Given the description of an element on the screen output the (x, y) to click on. 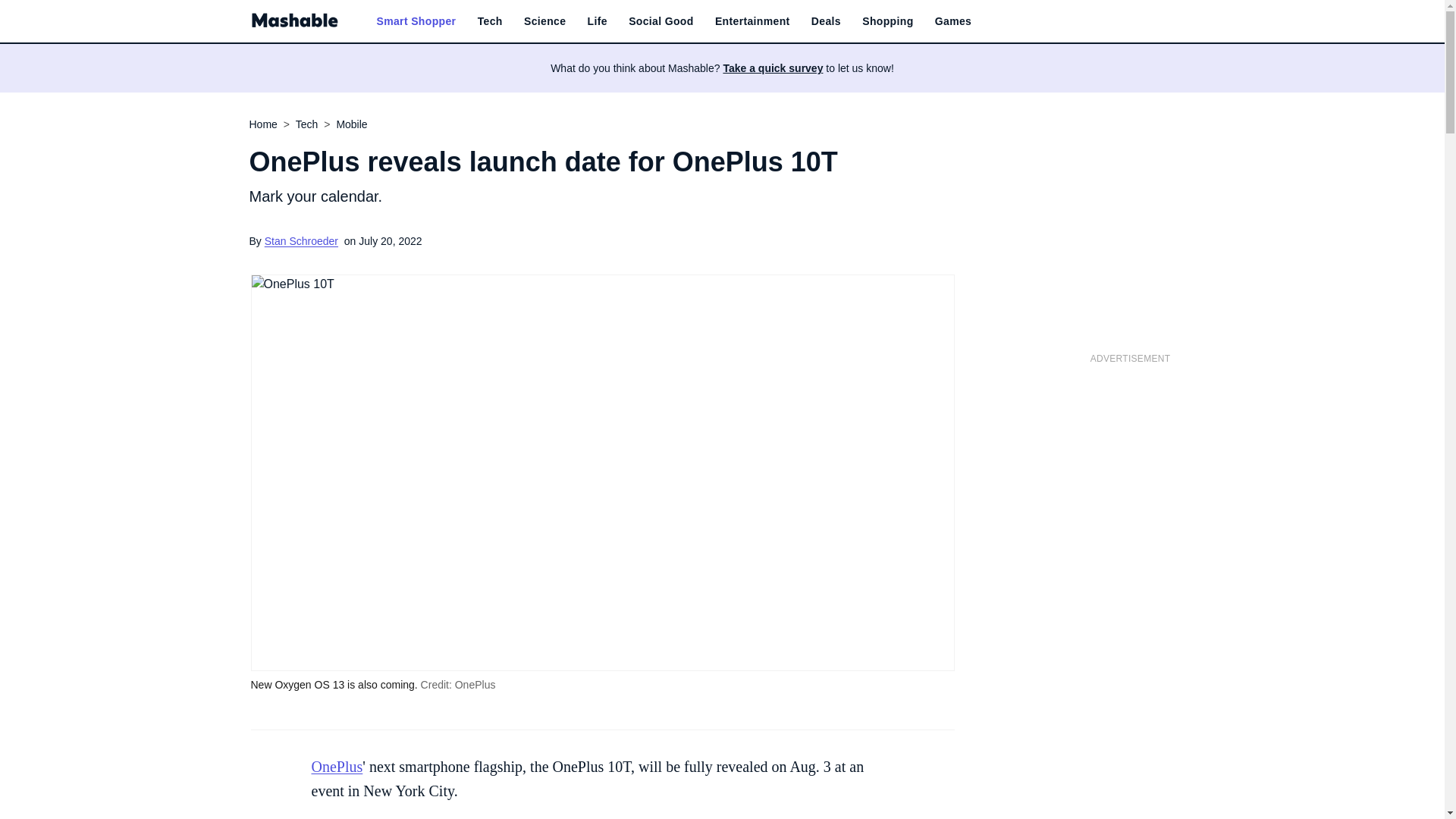
Smart Shopper (415, 21)
Life (597, 21)
Deals (825, 21)
Tech (489, 21)
Games (952, 21)
Shopping (886, 21)
Entertainment (752, 21)
Science (545, 21)
Social Good (661, 21)
